Given the description of an element on the screen output the (x, y) to click on. 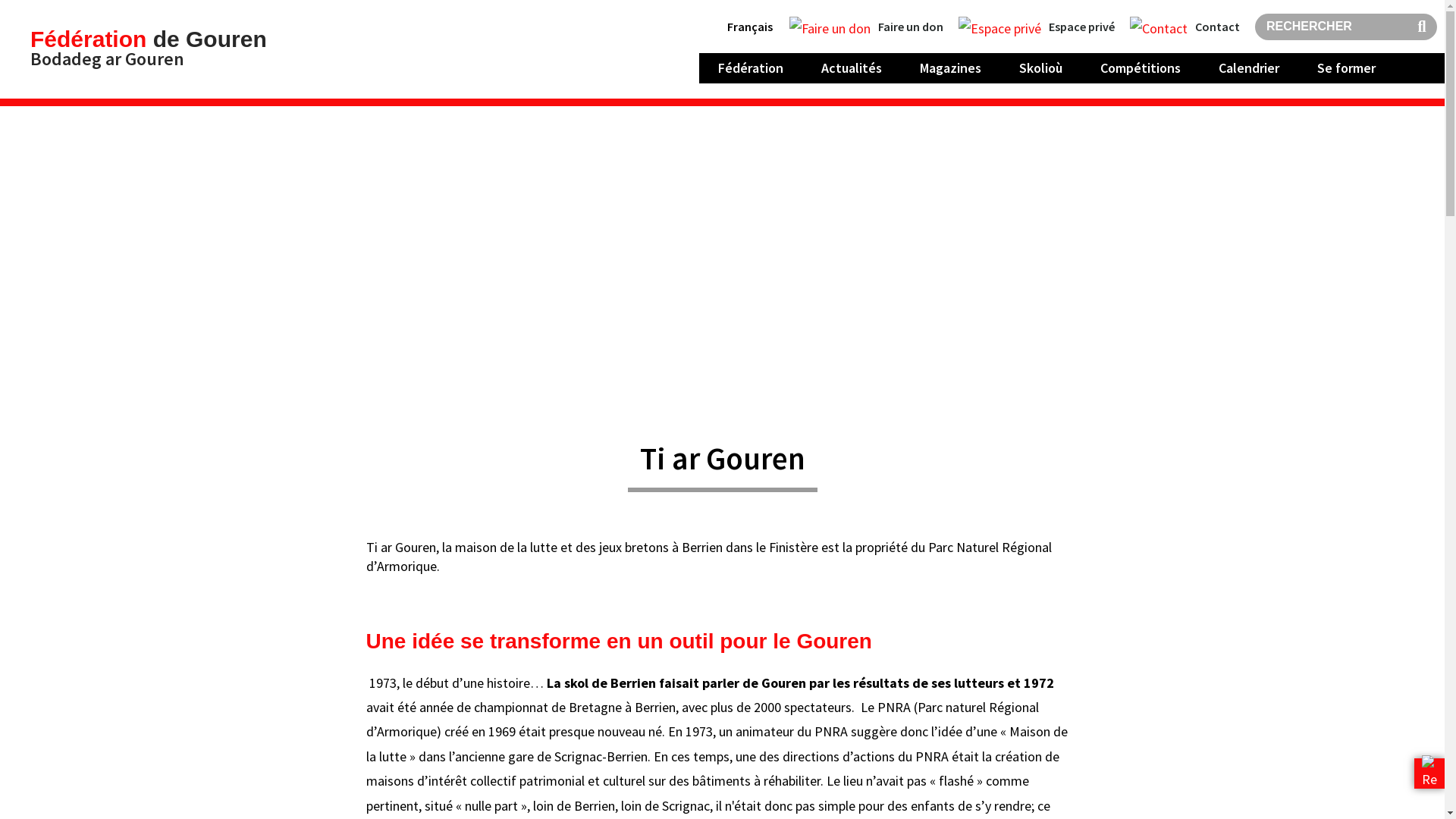
Faire un don Element type: text (866, 26)
Se former Element type: text (1346, 68)
Contact Element type: text (1184, 26)
Calendrier Element type: text (1248, 68)
Magazines Element type: text (950, 68)
